Given the description of an element on the screen output the (x, y) to click on. 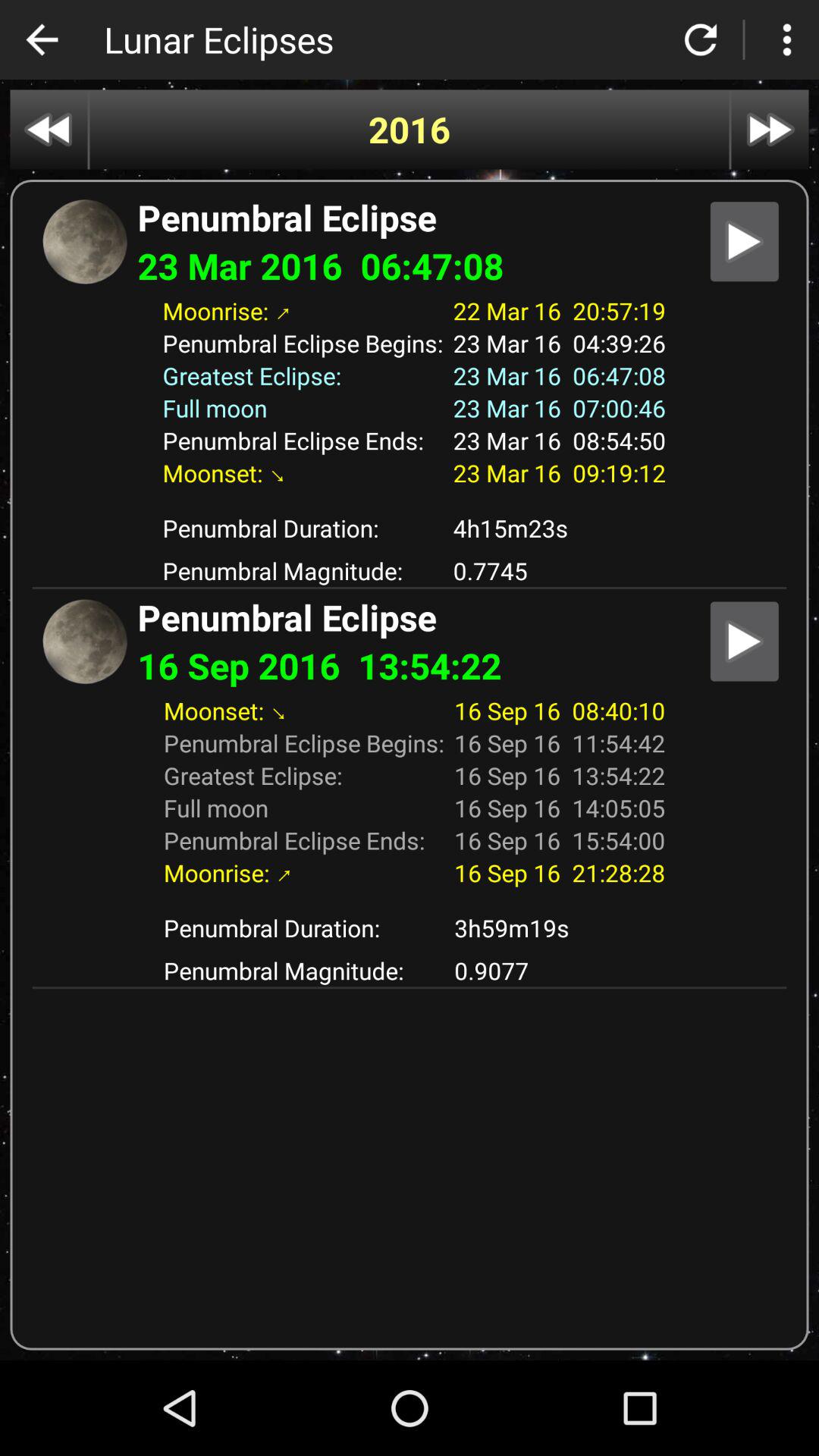
play file (744, 641)
